Given the description of an element on the screen output the (x, y) to click on. 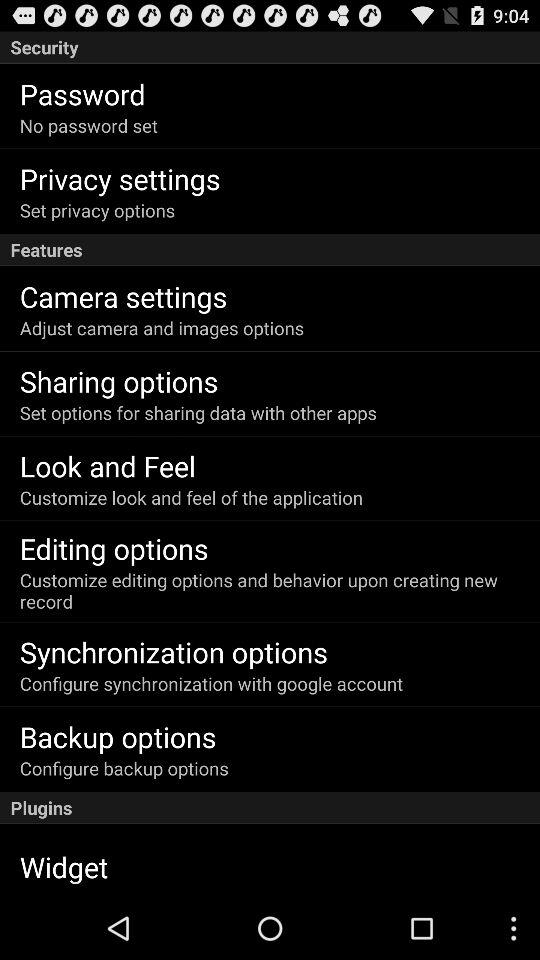
launch item below configure backup options icon (270, 807)
